Given the description of an element on the screen output the (x, y) to click on. 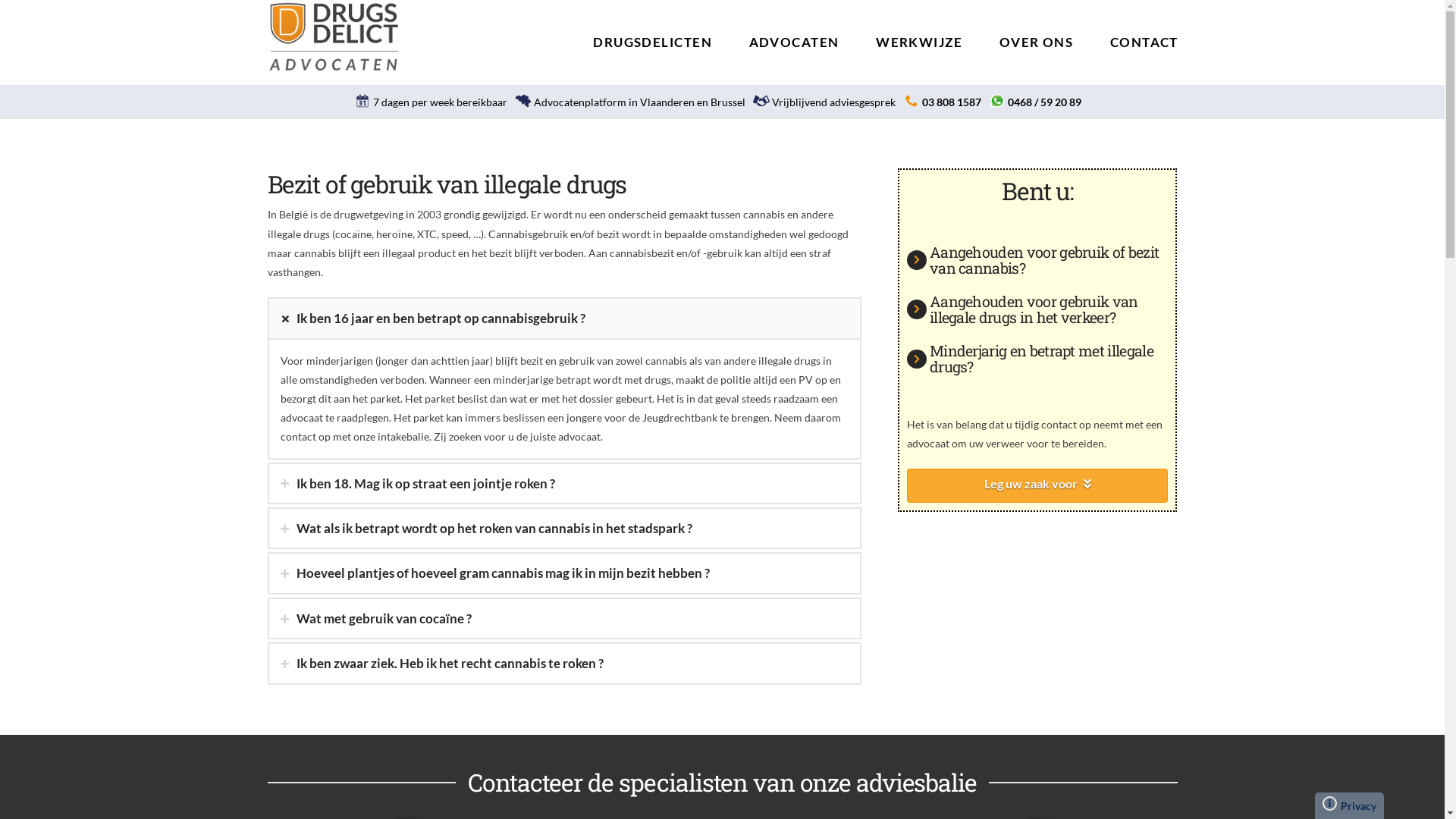
DRUGSDELICTEN Element type: text (651, 34)
ADVOCATEN Element type: text (793, 34)
Ik ben 16 jaar en ben betrapt op cannabisgebruik ? Element type: text (563, 317)
WERKWIJZE Element type: text (918, 34)
Ik ben zwaar ziek. Heb ik het recht cannabis te roken ? Element type: text (563, 662)
OVER ONS Element type: text (1035, 34)
Ik ben 18. Mag ik op straat een jointje roken ? Element type: text (563, 483)
Leg uw zaak voor Element type: text (1036, 485)
CONTACT Element type: text (1134, 34)
